Given the description of an element on the screen output the (x, y) to click on. 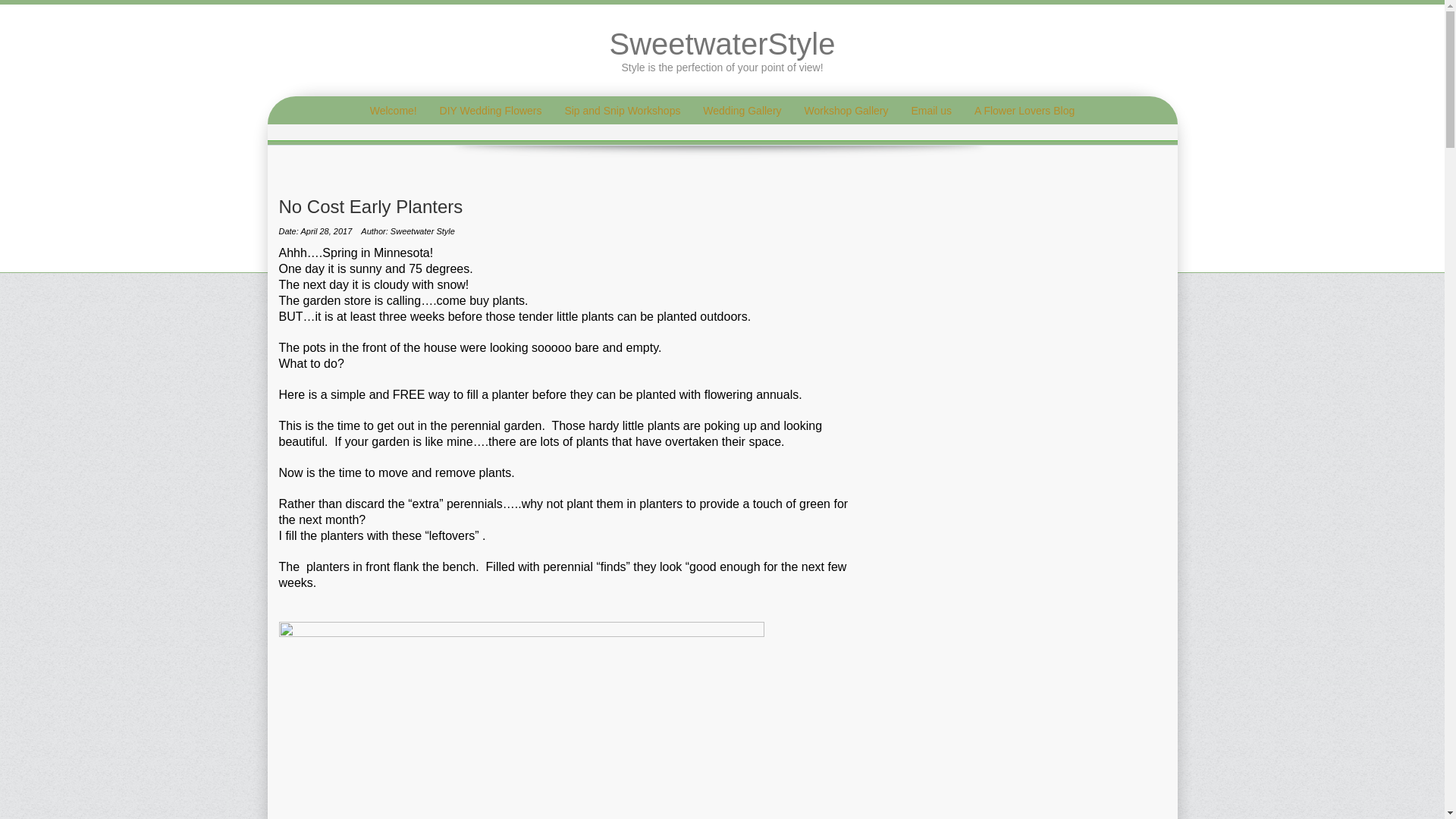
Email us (930, 110)
SweetwaterStyle (722, 43)
Wedding Gallery (741, 110)
Workshop Gallery (845, 110)
DIY Wedding Flowers (490, 110)
Welcome! (392, 110)
SweetwaterStyle (722, 43)
A Flower Lovers Blog (1023, 110)
Sip and Snip Workshops (622, 110)
